Given the description of an element on the screen output the (x, y) to click on. 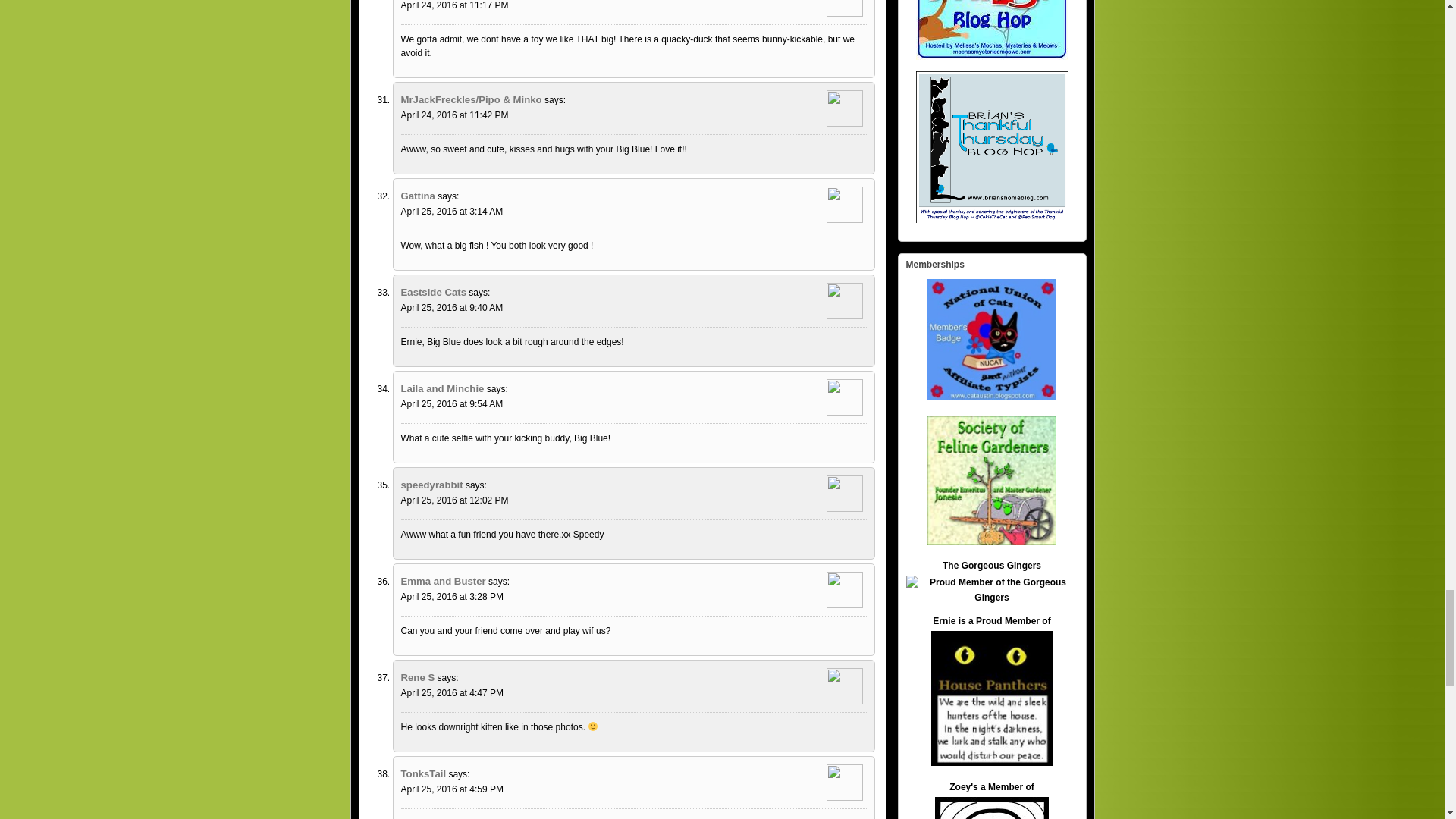
housepanthers07-17511 (991, 697)
tcclogo (991, 807)
